Given the description of an element on the screen output the (x, y) to click on. 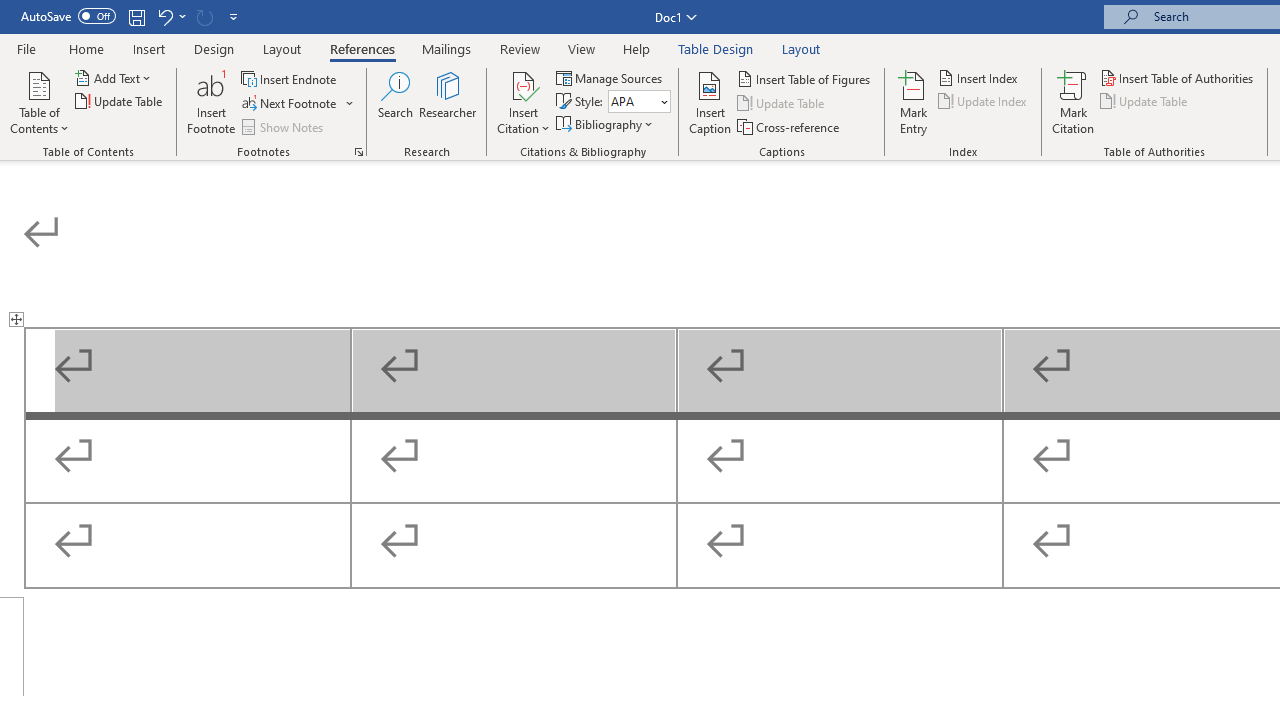
Insert Caption... (710, 102)
Undo Outline Move Up (164, 15)
Researcher (447, 102)
Style (639, 101)
Manage Sources... (610, 78)
Table of Contents (39, 102)
Add Text (114, 78)
Show Notes (284, 126)
Insert Footnote (211, 102)
Mark Entry... (913, 102)
